Given the description of an element on the screen output the (x, y) to click on. 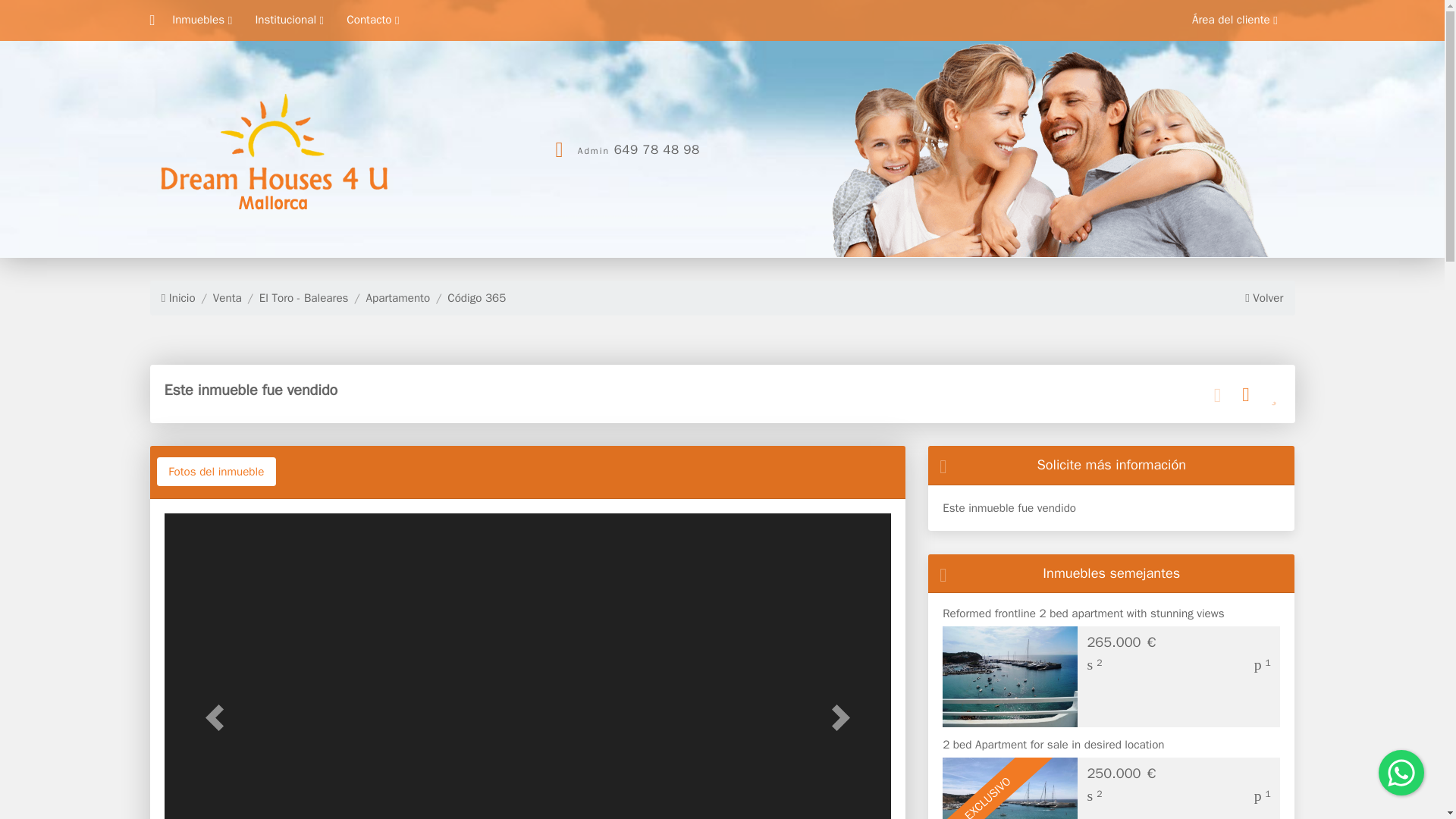
Inmuebles (206, 20)
Apartamento (388, 298)
Contacto (376, 20)
Inicio (178, 298)
Institucional (292, 20)
Venta (218, 298)
649 78 48 98 (657, 149)
Volver (1263, 298)
El Toro - Baleares (295, 298)
